Given the description of an element on the screen output the (x, y) to click on. 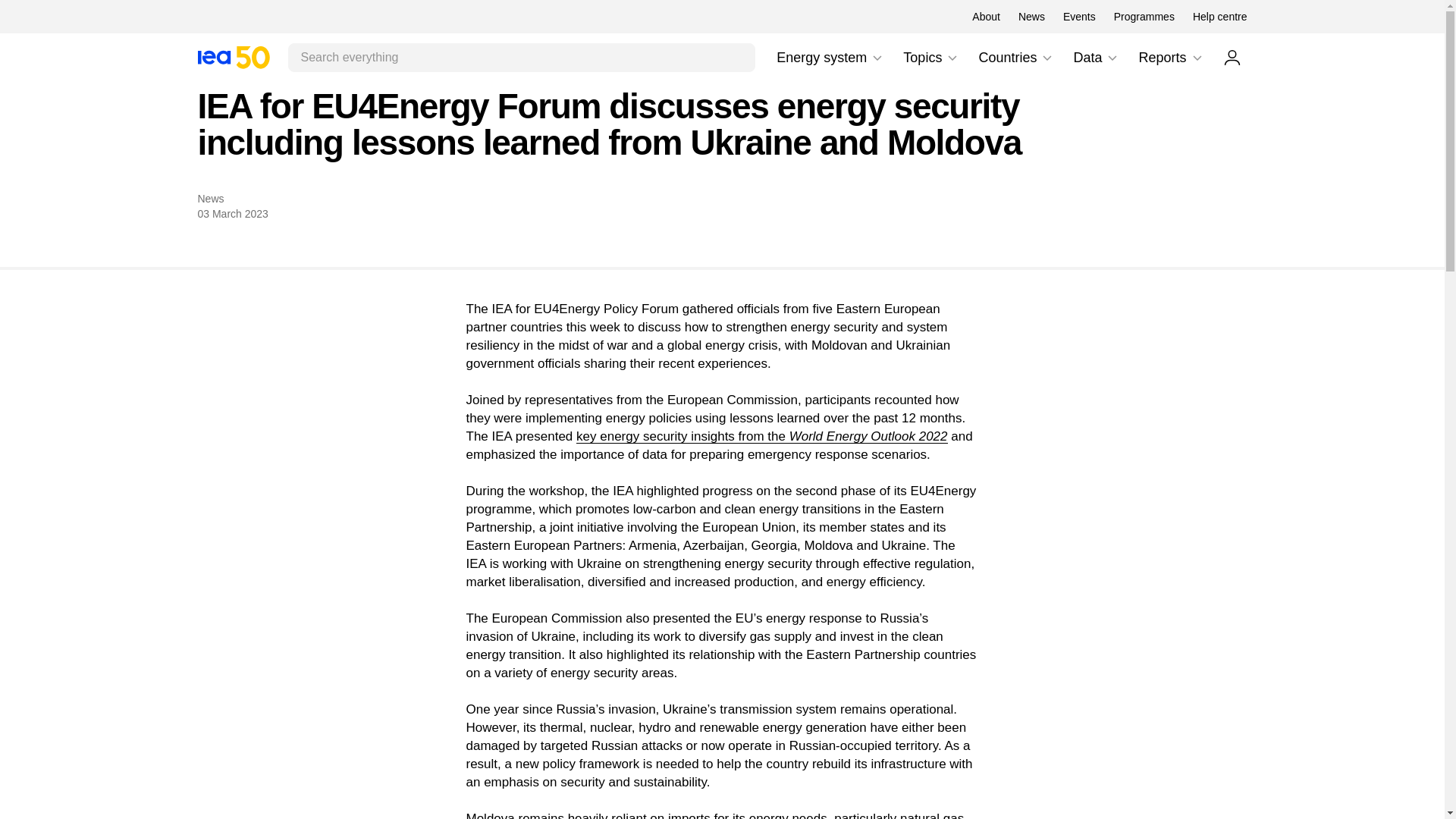
Chevron down (830, 57)
Chevron down (951, 57)
Chevron down (931, 57)
IEA (877, 57)
IEA (1196, 57)
Events (232, 56)
Programmes (232, 56)
About (1079, 16)
News (1143, 16)
Chevron down (986, 16)
Chevron down (1031, 16)
Help centre (1112, 57)
User Profile (1046, 57)
